Given the description of an element on the screen output the (x, y) to click on. 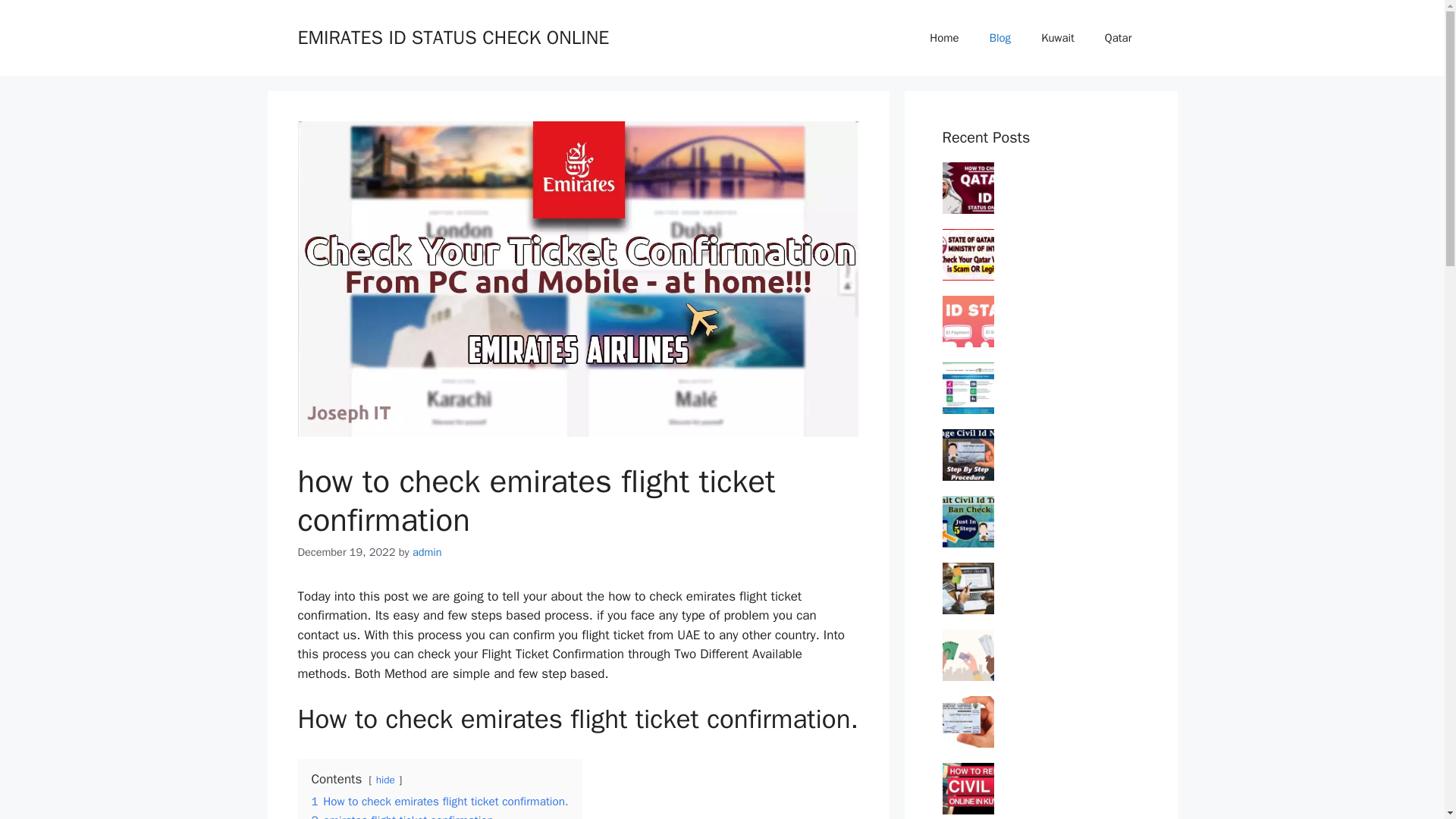
admin (427, 551)
Qatar (1118, 37)
1 How to check emirates flight ticket confirmation. (439, 801)
Civil id renewal for expatriates in Kuwait (1059, 777)
EMIRATES ID STATUS CHECK ONLINE (452, 37)
civil id name change Kuwait 2023 (1058, 443)
2 emirates flight ticket confirmation. (403, 816)
Check Your Civil id status Kuwait in 2023 (1063, 309)
civil id payment for expatriates online Kuwait 2023 (1053, 651)
QID Validity Online in 2023 Moi Qatar ID Expiry check online (1059, 184)
Blog (1000, 37)
kuwait civil id check travel ban 2023 (1056, 510)
View all posts by admin (427, 551)
Home (944, 37)
hide (384, 779)
